Given the description of an element on the screen output the (x, y) to click on. 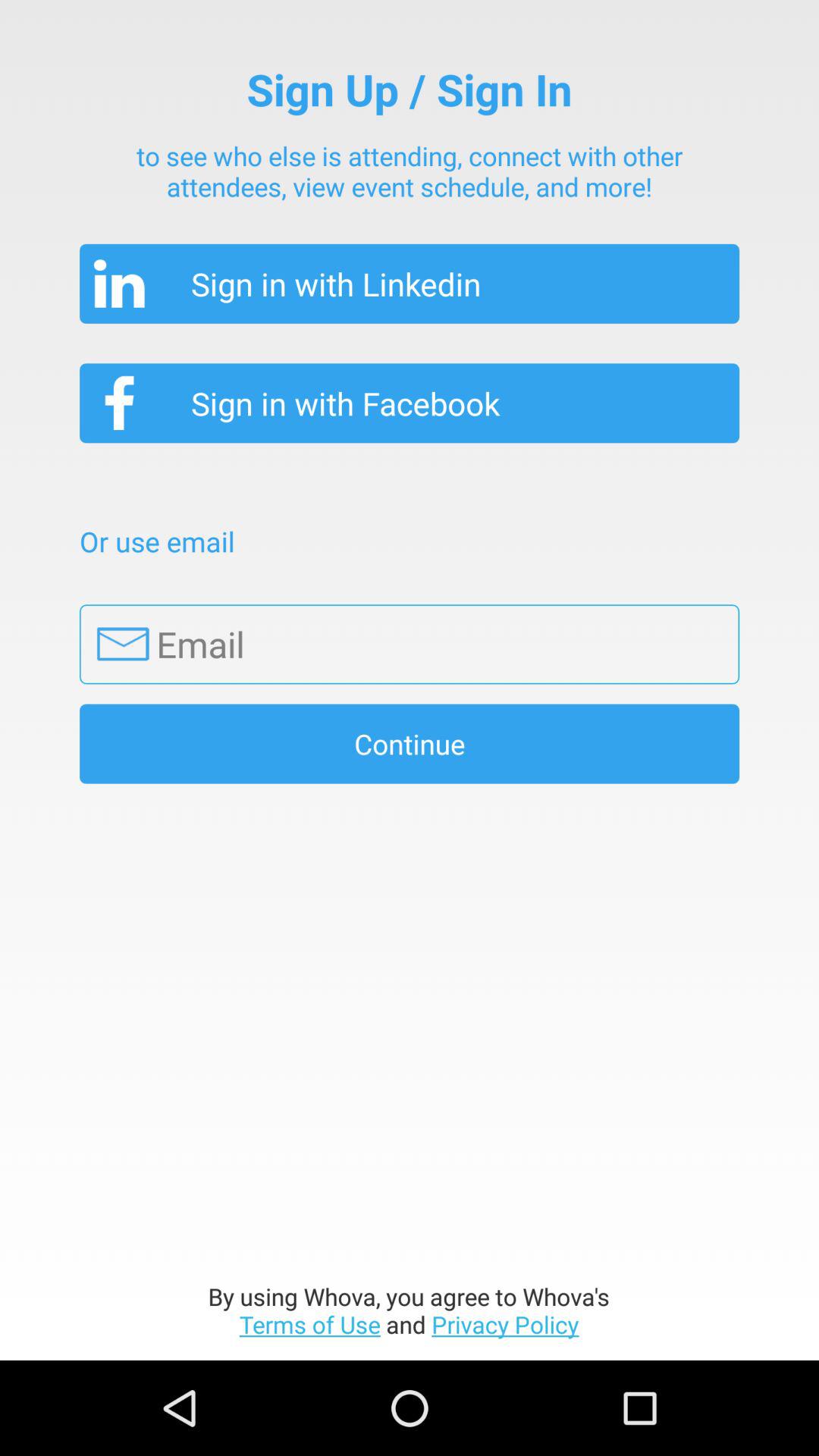
swipe to the continue icon (409, 743)
